Given the description of an element on the screen output the (x, y) to click on. 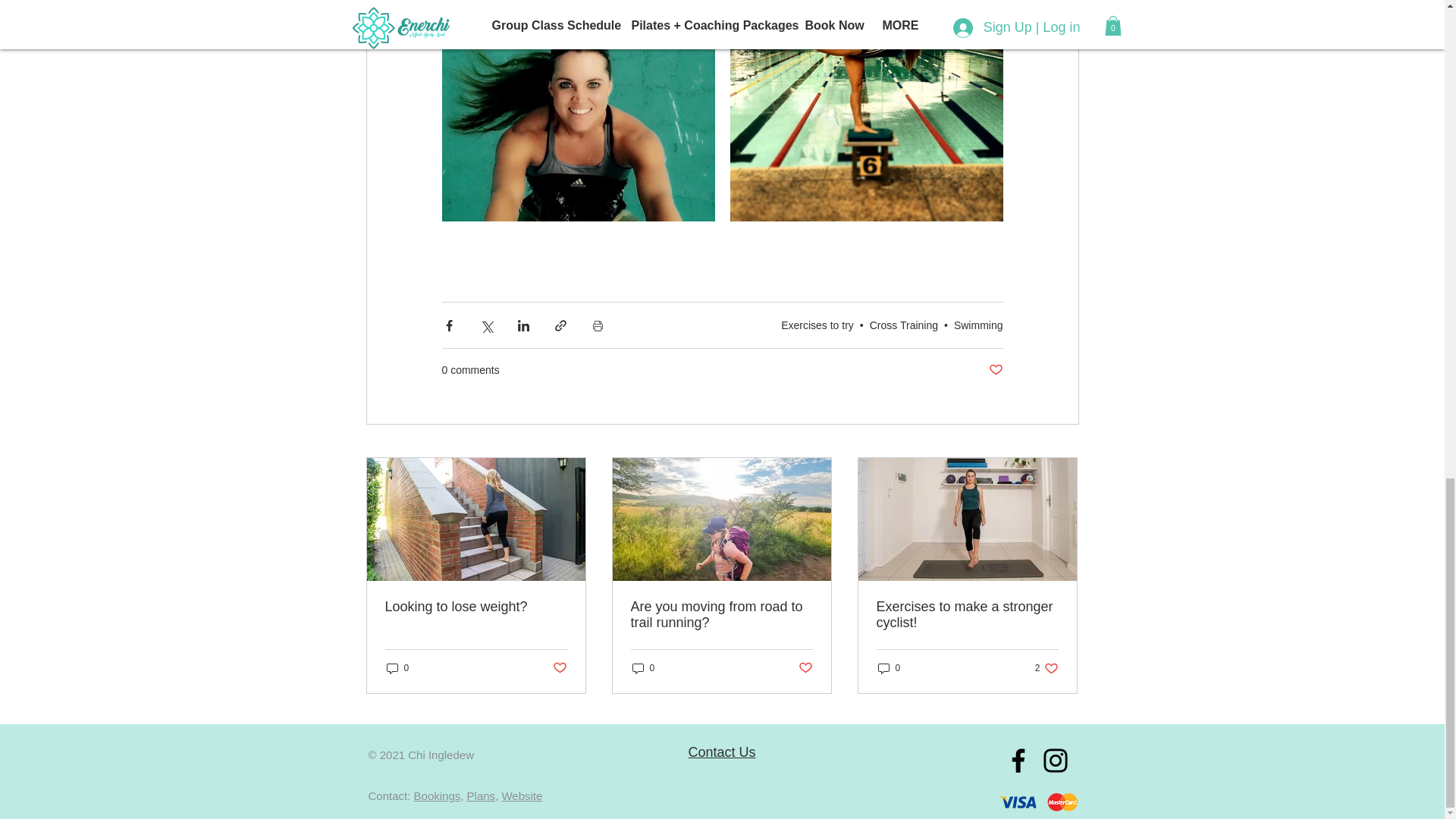
Swimming (978, 325)
0 (397, 667)
Post not marked as liked (558, 668)
Cross Training (903, 325)
Post not marked as liked (995, 370)
Are you moving from road to trail running? (721, 614)
Looking to lose weight? (476, 606)
Exercises to try (816, 325)
0 (643, 667)
